Given the description of an element on the screen output the (x, y) to click on. 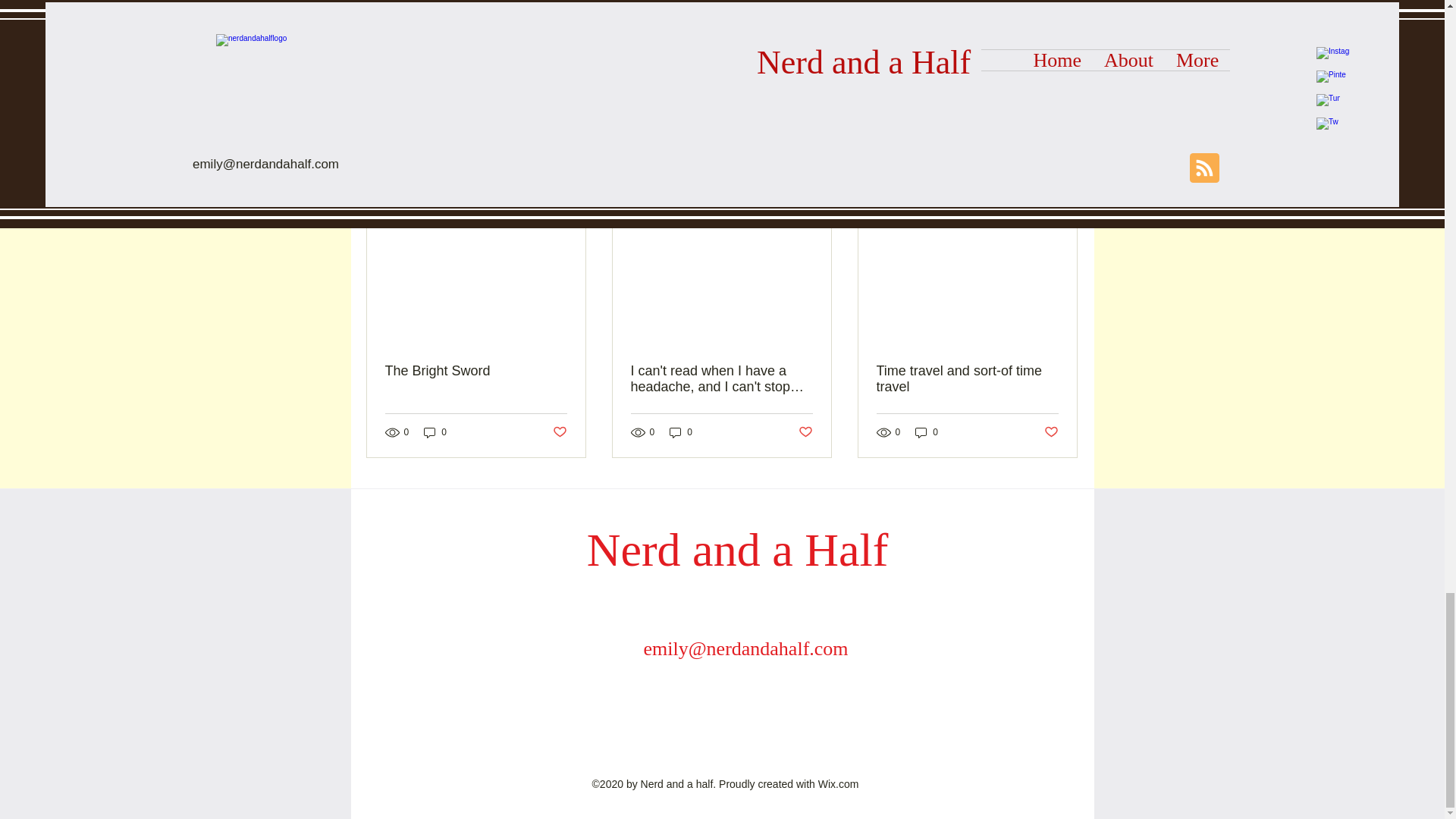
fantasy (520, 10)
audio (463, 10)
0 (435, 432)
TBR (812, 10)
0 (681, 432)
library power (664, 10)
young adult (748, 10)
Post not marked as liked (804, 431)
Post not marked as liked (558, 431)
